Given the description of an element on the screen output the (x, y) to click on. 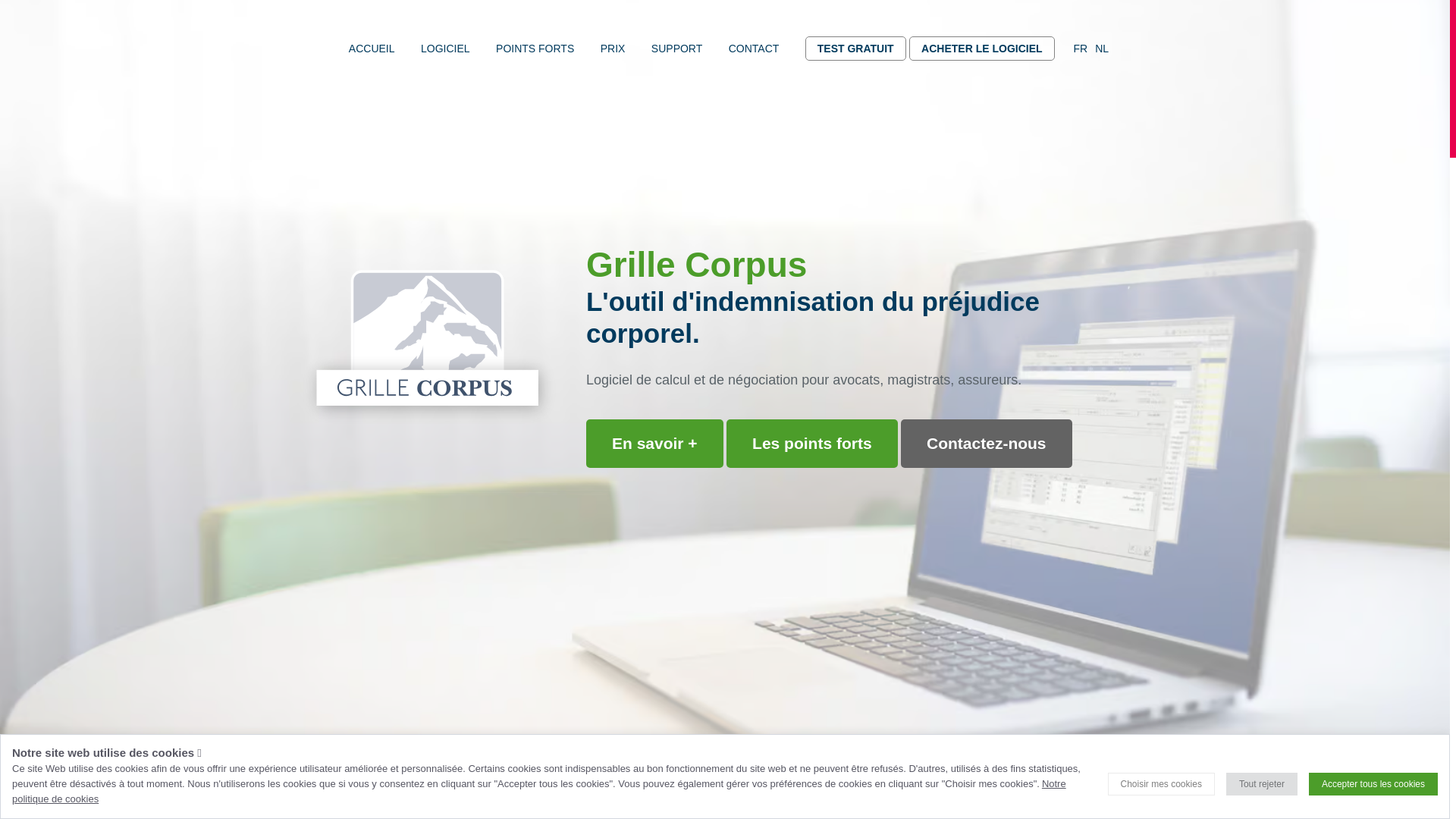
LOGICIEL Element type: text (445, 48)
Accepter tous les cookies Element type: text (1372, 783)
CONTACT Element type: text (753, 48)
Choisir mes cookies Element type: text (1160, 783)
Les points forts Element type: text (811, 443)
POINTS FORTS Element type: text (534, 48)
TEST GRATUIT Element type: text (855, 48)
ACCUEIL Element type: text (371, 48)
SUPPORT Element type: text (676, 48)
En savoir + Element type: text (654, 443)
NL Element type: text (1101, 48)
Tout rejeter Element type: text (1261, 783)
ACHETER LE LOGICIEL Element type: text (981, 48)
PRIX Element type: text (613, 48)
Notre politique de cookies Element type: text (539, 791)
Contactez-nous Element type: text (986, 443)
FR Element type: text (1081, 48)
